Given the description of an element on the screen output the (x, y) to click on. 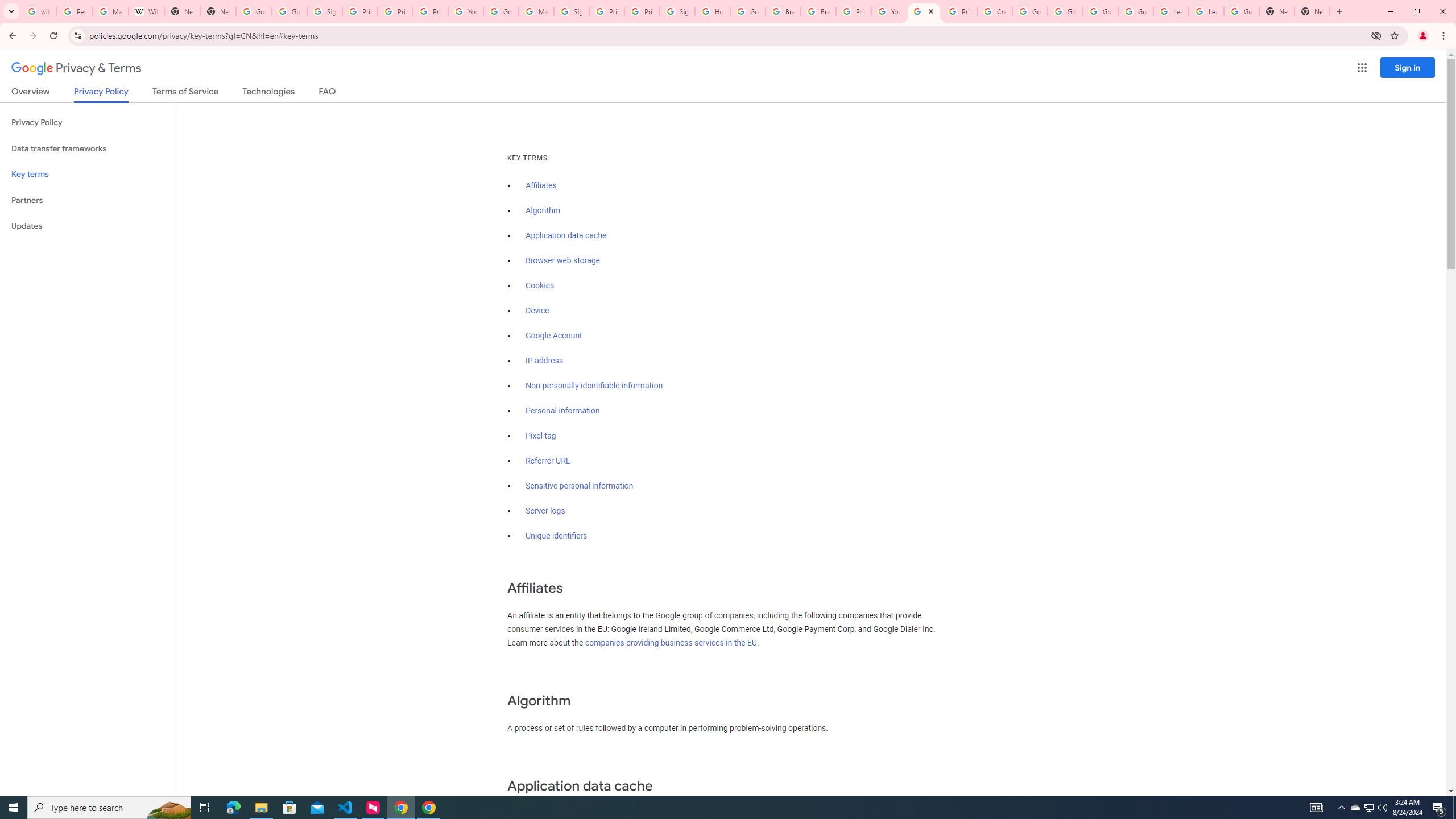
Non-personally identifiable information (593, 385)
Unique identifiers (556, 536)
Brand Resource Center (817, 11)
Sign in (1407, 67)
Google Account Help (1029, 11)
Personalization & Google Search results - Google Search Help (74, 11)
Sign in - Google Accounts (677, 11)
Partners (86, 199)
